Given the description of an element on the screen output the (x, y) to click on. 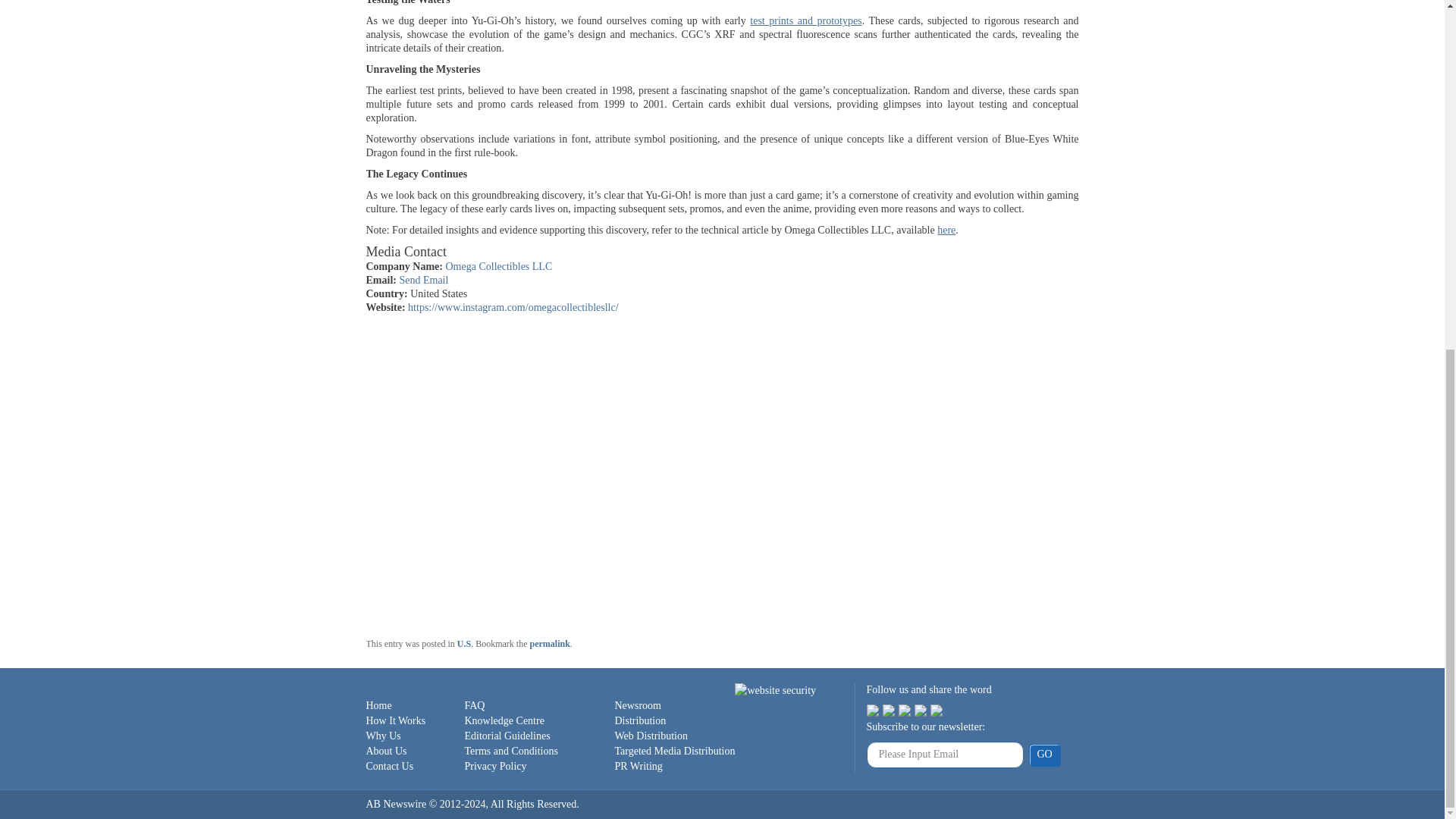
GO (1043, 754)
SiteLock (775, 690)
Please Input Email (944, 755)
